Given the description of an element on the screen output the (x, y) to click on. 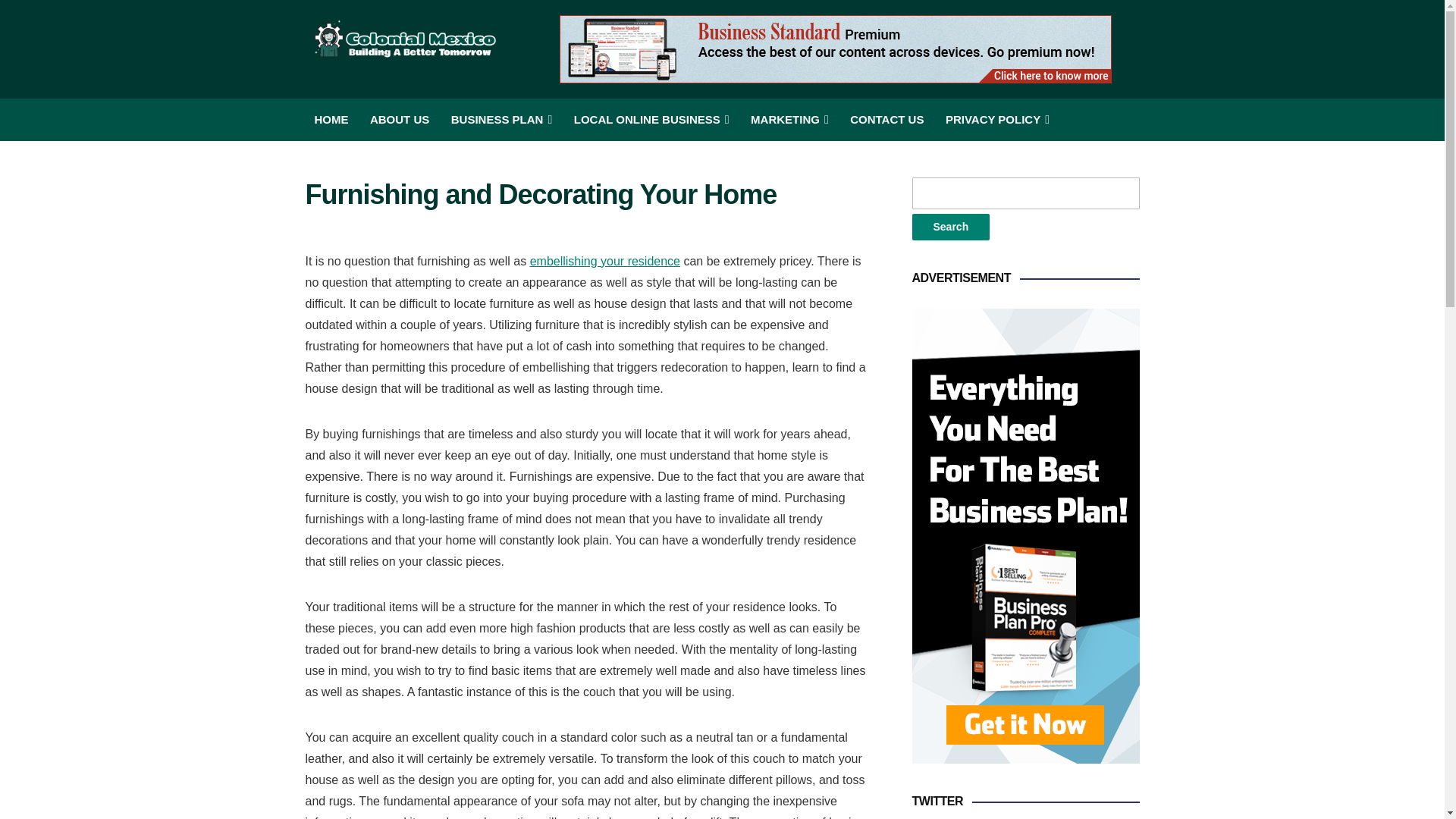
LOCAL ONLINE BUSINESS (651, 119)
CONTACT US (886, 119)
Search (950, 226)
BUSINESS PLAN (501, 119)
MARKETING (789, 119)
ABOUT US (399, 119)
PRIVACY POLICY (997, 119)
